Given the description of an element on the screen output the (x, y) to click on. 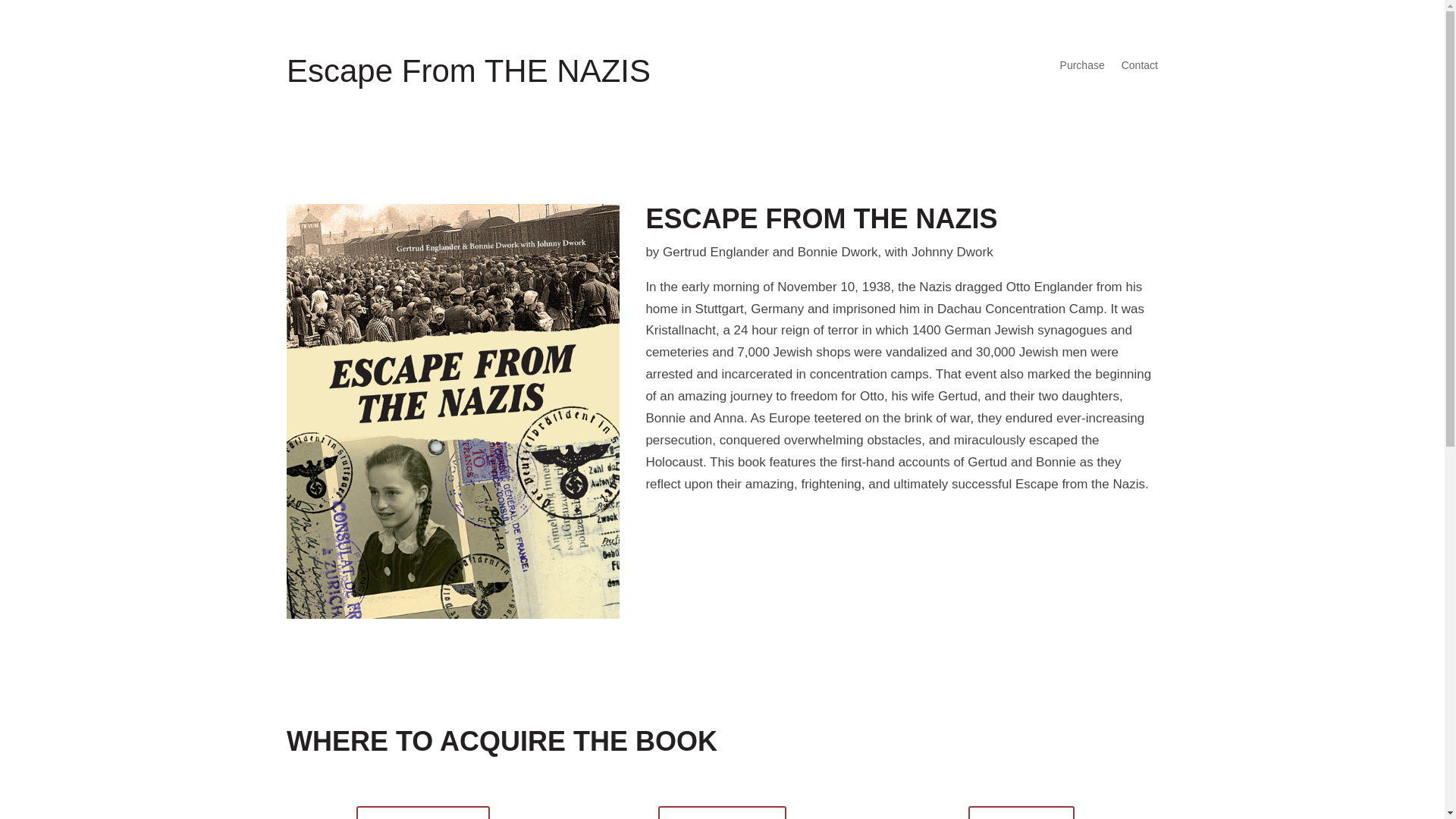
Buy Hardcover (422, 812)
Contact (1139, 67)
Buy eBook (1021, 812)
Escape From The Nazis ebook cover (453, 614)
Purchase (1082, 67)
Buy Softcover (722, 812)
